Given the description of an element on the screen output the (x, y) to click on. 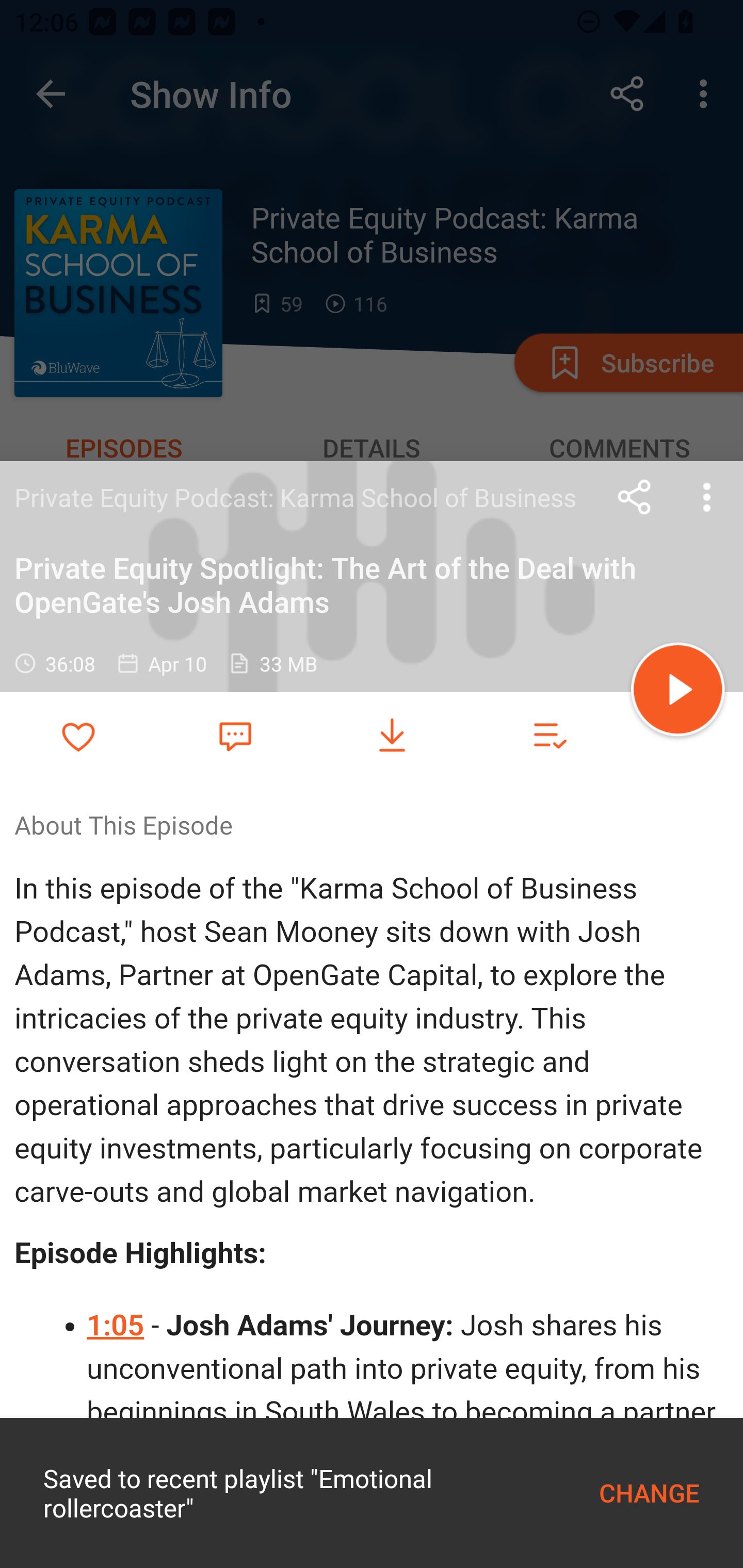
Share (634, 496)
more options (706, 496)
Play (677, 692)
Favorite (234, 735)
Add to Favorites (78, 735)
Download (391, 735)
Add to playlist (548, 735)
1:05 (115, 1325)
CHANGE (648, 1492)
